Given the description of an element on the screen output the (x, y) to click on. 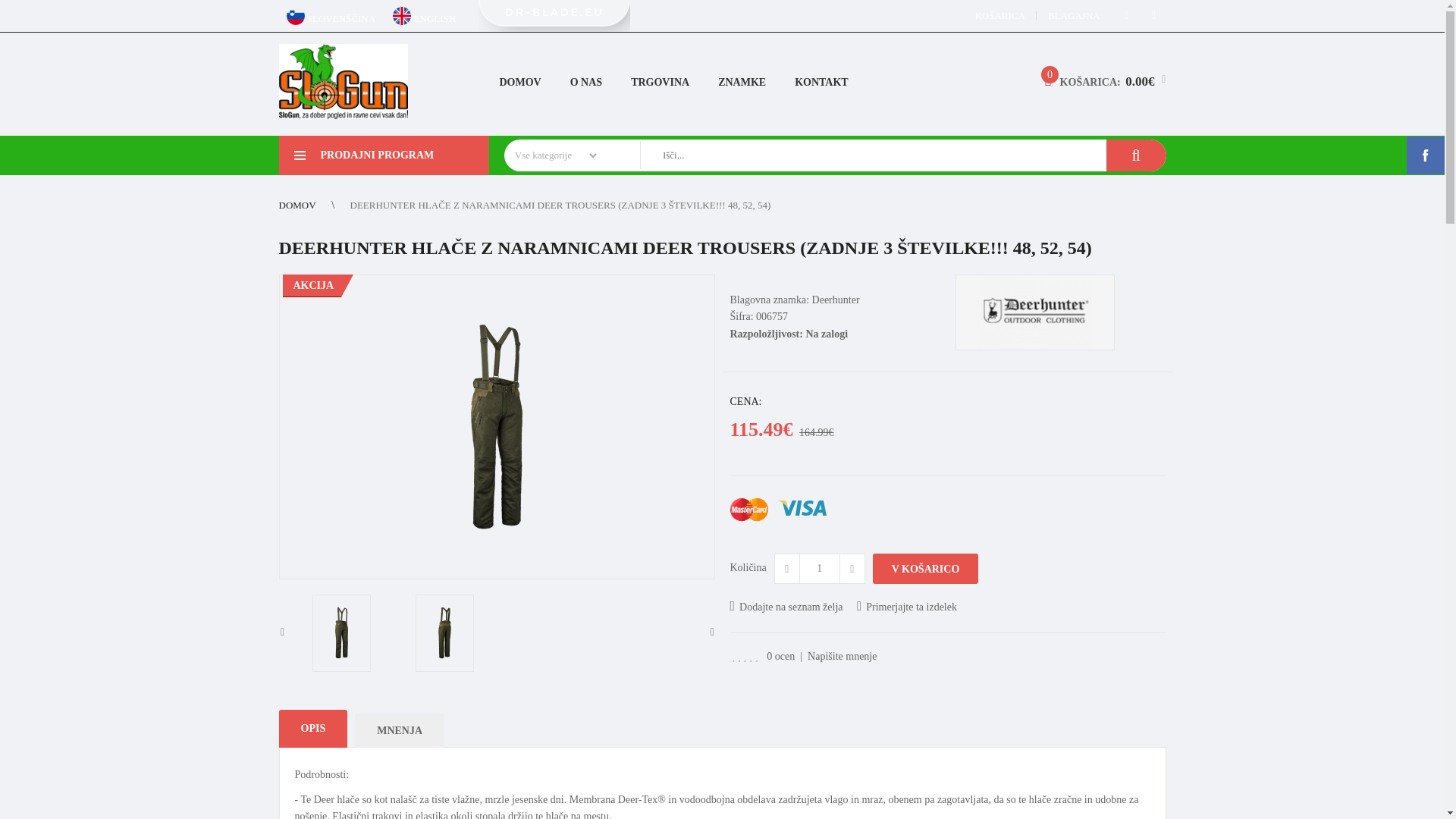
Slogun.si (343, 81)
Youtube (1153, 15)
O NAS (585, 82)
TRGOVINA (659, 82)
ZNAMKE (741, 82)
English (401, 15)
DOMOV (520, 82)
1 (819, 568)
Facebook (1126, 15)
BLAGAJNA (1074, 15)
